Given the description of an element on the screen output the (x, y) to click on. 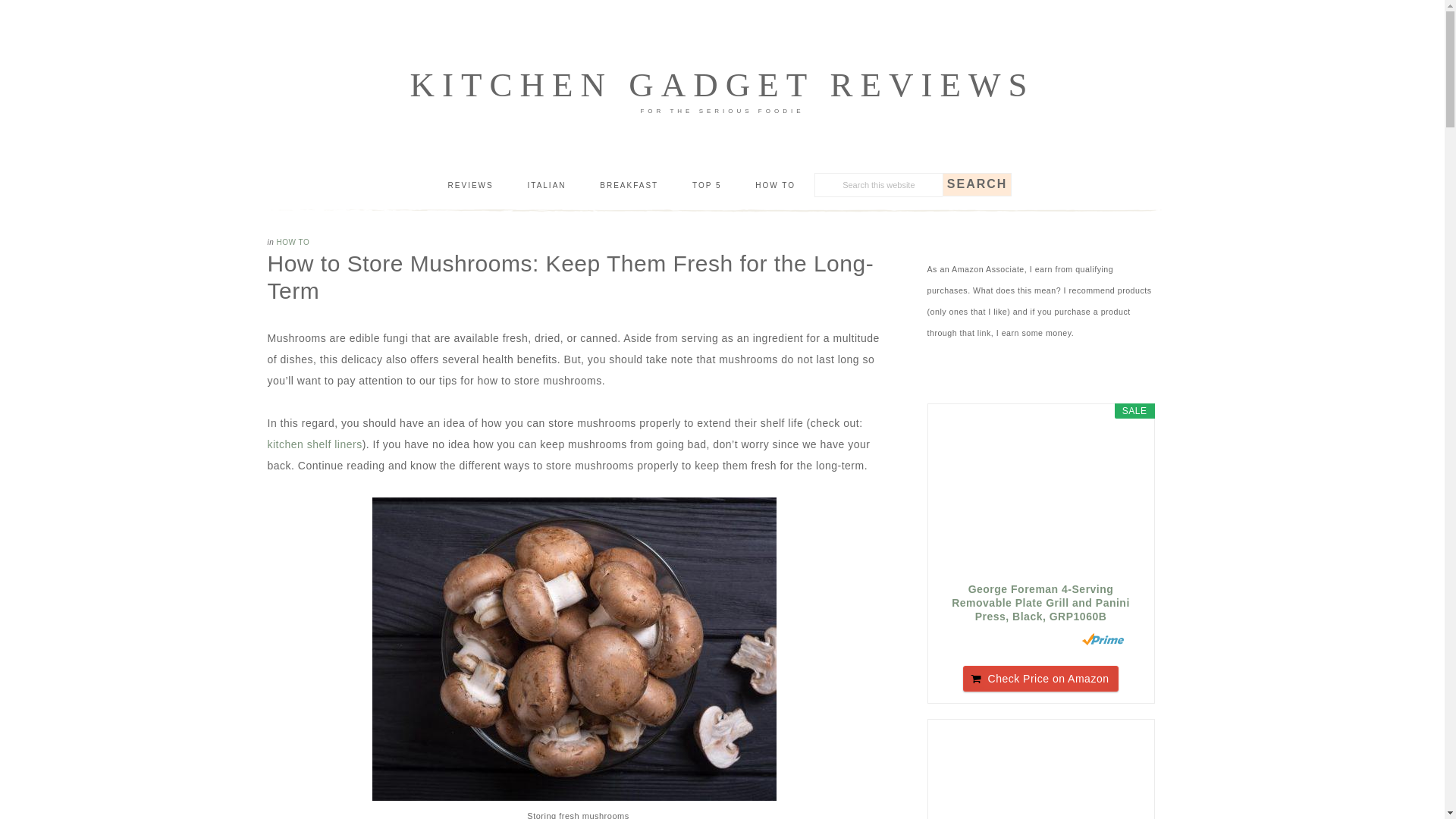
KITCHEN GADGET REVIEWS (721, 85)
BREAKFAST (628, 185)
Reviews on Amazon (1014, 639)
REVIEWS (470, 185)
HOW TO (293, 242)
Search (976, 184)
HOW TO (774, 185)
ITALIAN (546, 185)
Check Price on Amazon (1040, 678)
Amazon Prime (1102, 639)
TOP 5 (706, 185)
Search (976, 184)
